Given the description of an element on the screen output the (x, y) to click on. 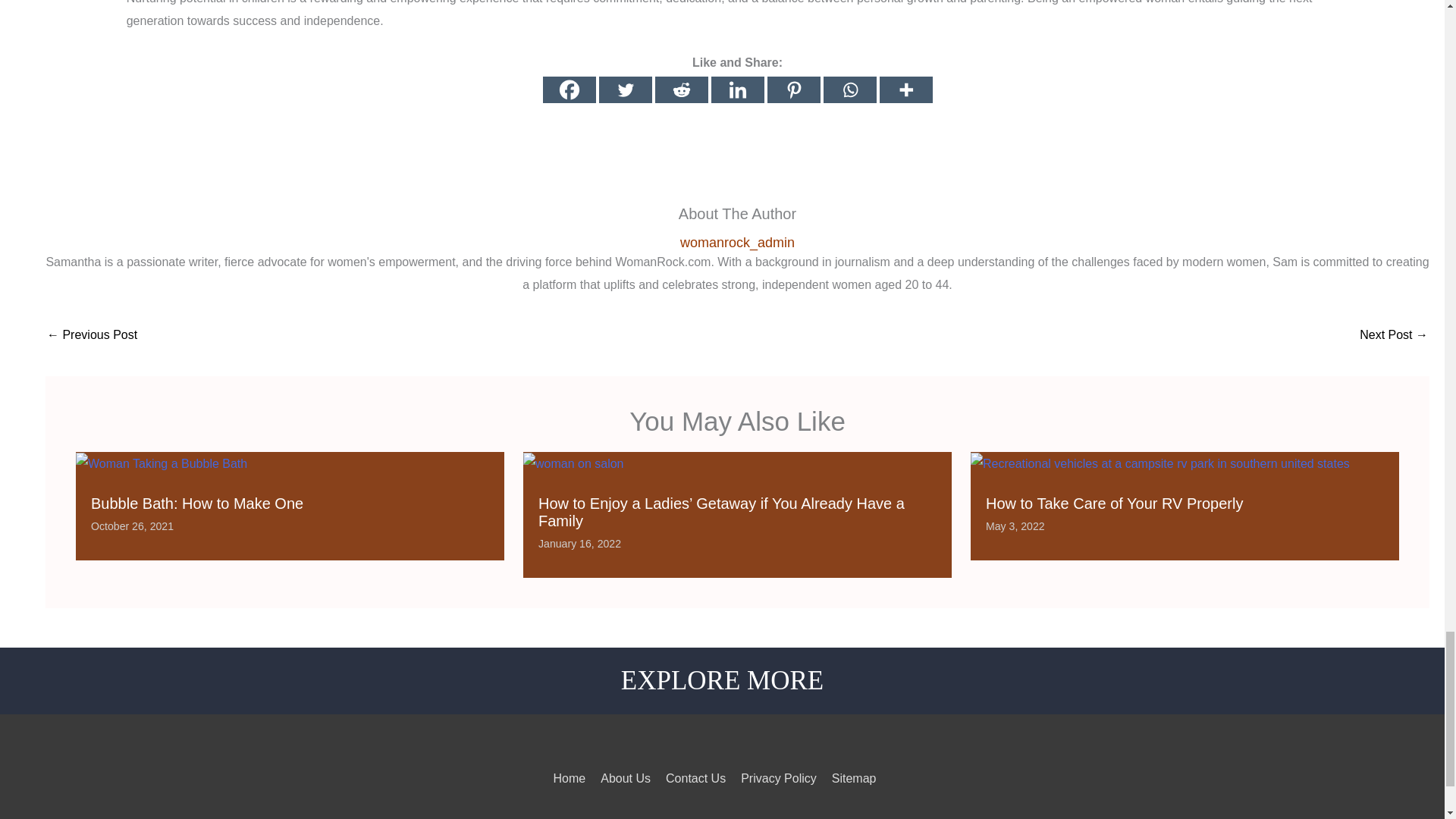
What to Do When Improving in Fashion: A Woman's Guide (1393, 336)
Twitter (625, 89)
Reddit (681, 89)
Privacy Policy (778, 778)
Sitemap (853, 778)
More (906, 89)
Whatsapp (850, 89)
Home (569, 778)
Facebook (569, 89)
Bubble Bath: How to Make One (196, 503)
About Us (624, 778)
Linkedin (737, 89)
Pinterest (794, 89)
How to Take Care of Your RV Properly (1114, 503)
Contact Us (695, 778)
